Given the description of an element on the screen output the (x, y) to click on. 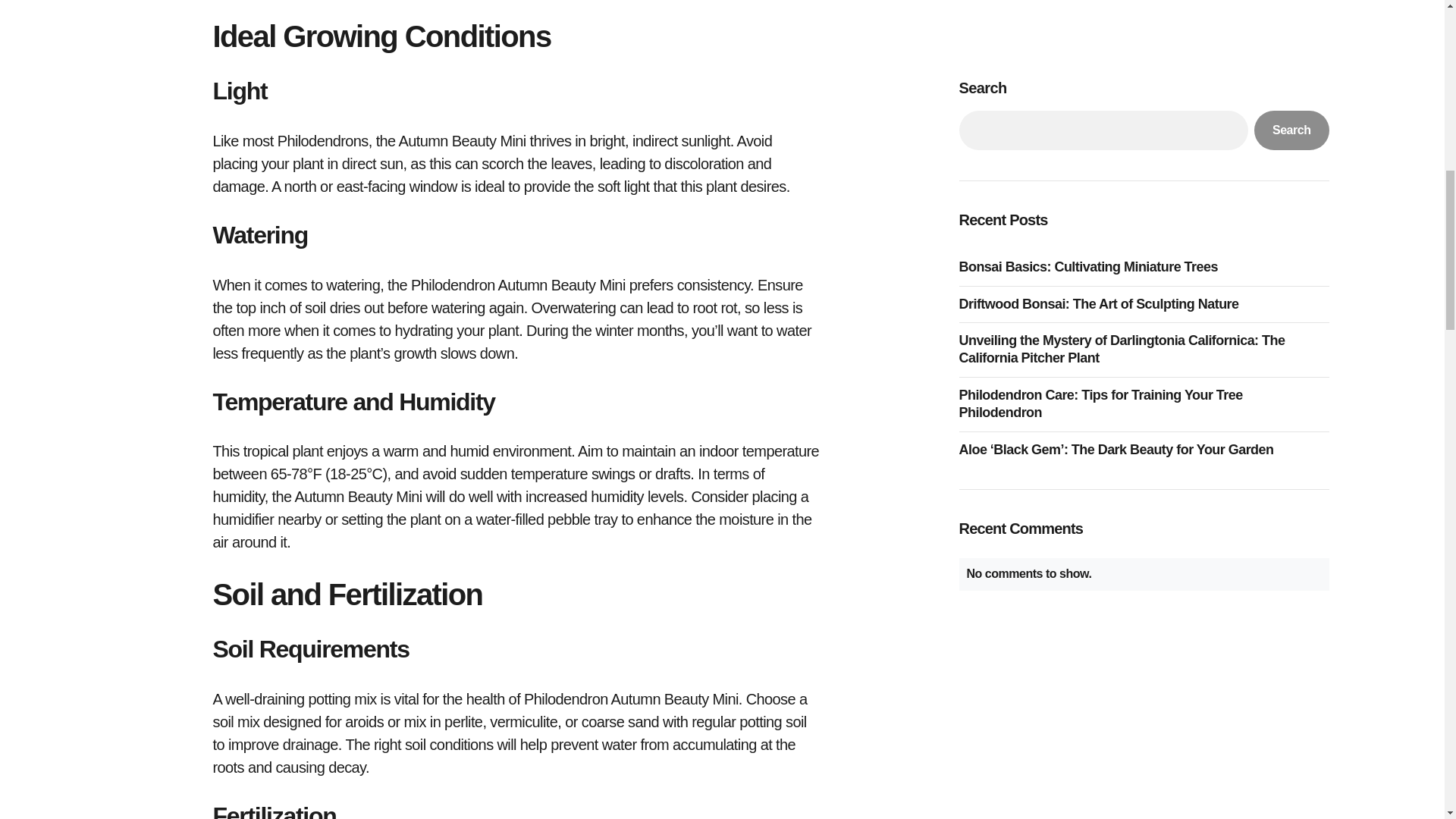
Philodendron Care: Tips for Training Your Tree Philodendron (1142, 94)
Driftwood Bonsai: The Art of Sculpting Nature (1102, 1)
